Given the description of an element on the screen output the (x, y) to click on. 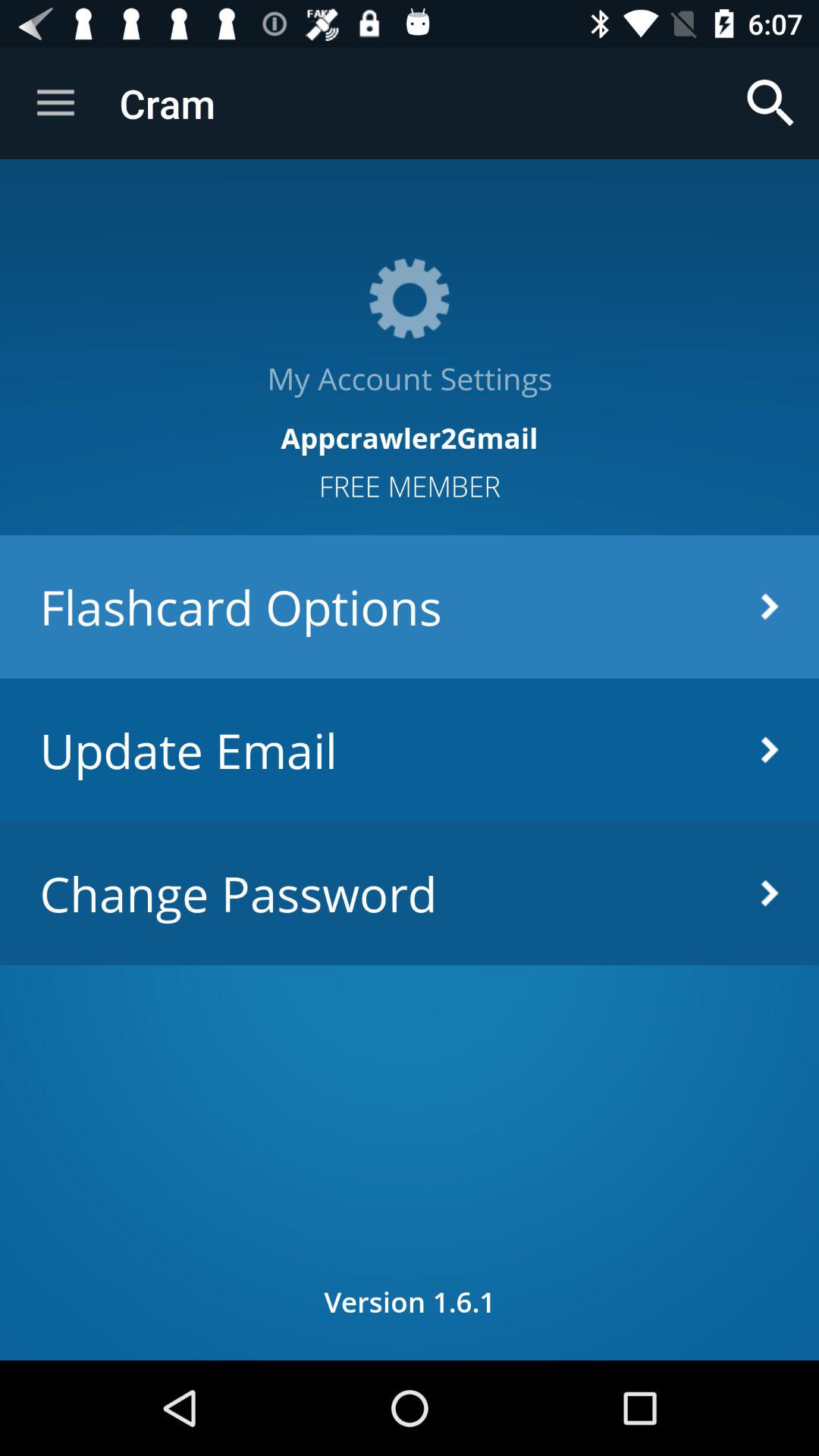
press the flashcard options (409, 606)
